Given the description of an element on the screen output the (x, y) to click on. 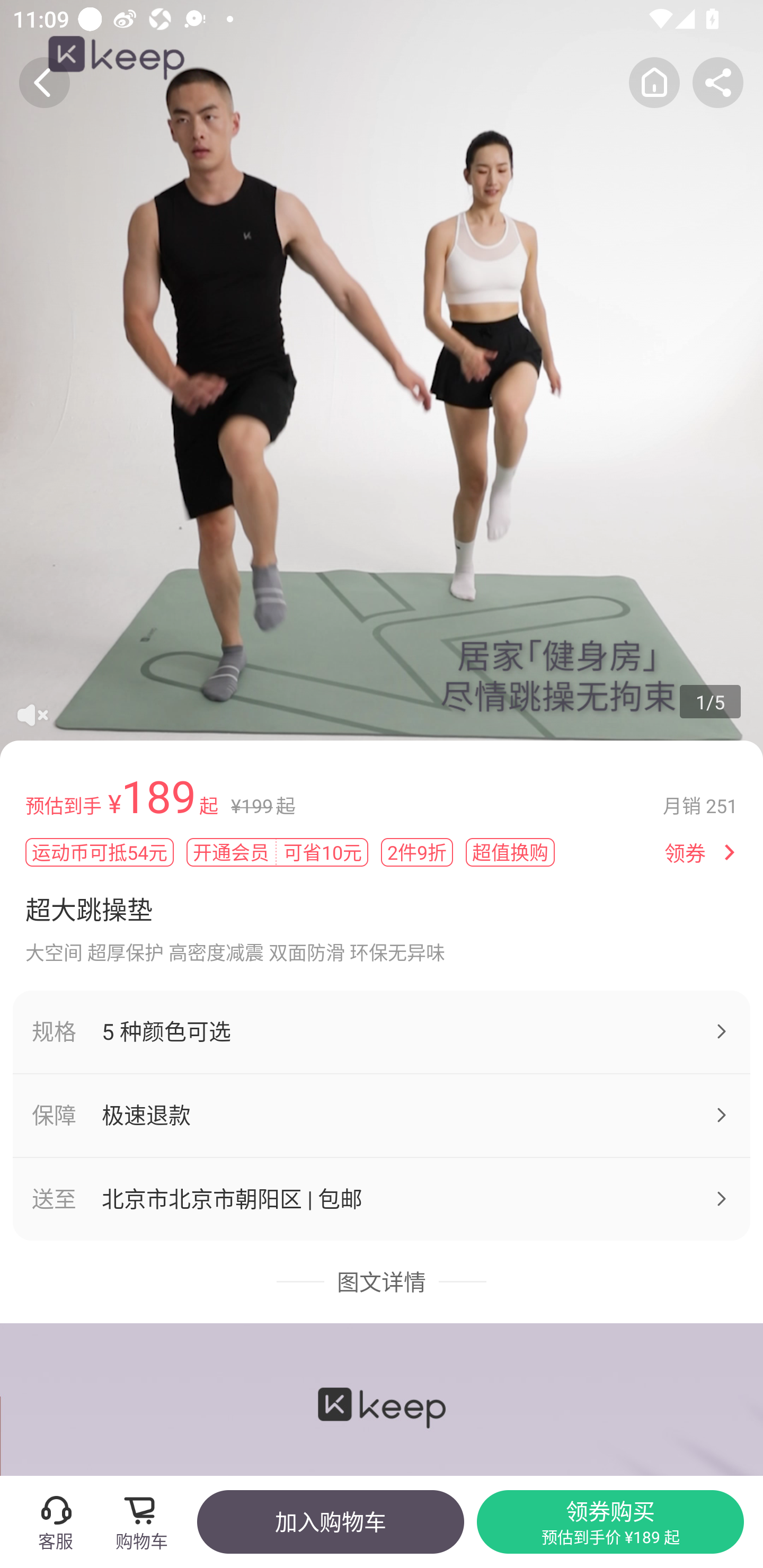
运动币可抵54元 开通会员 可省10元 2件9折 超值换购 (338, 852)
领券 (684, 852)
规格 5 种颜色可选 (381, 1031)
保障 极速退款 (381, 1115)
送至 北京市北京市朝阳区 | 包邮 (381, 1199)
客服 (55, 1521)
购物车 (147, 1521)
加入购物车 (329, 1521)
领券购买 预估到手价 ¥189 起 (609, 1521)
